Given the description of an element on the screen output the (x, y) to click on. 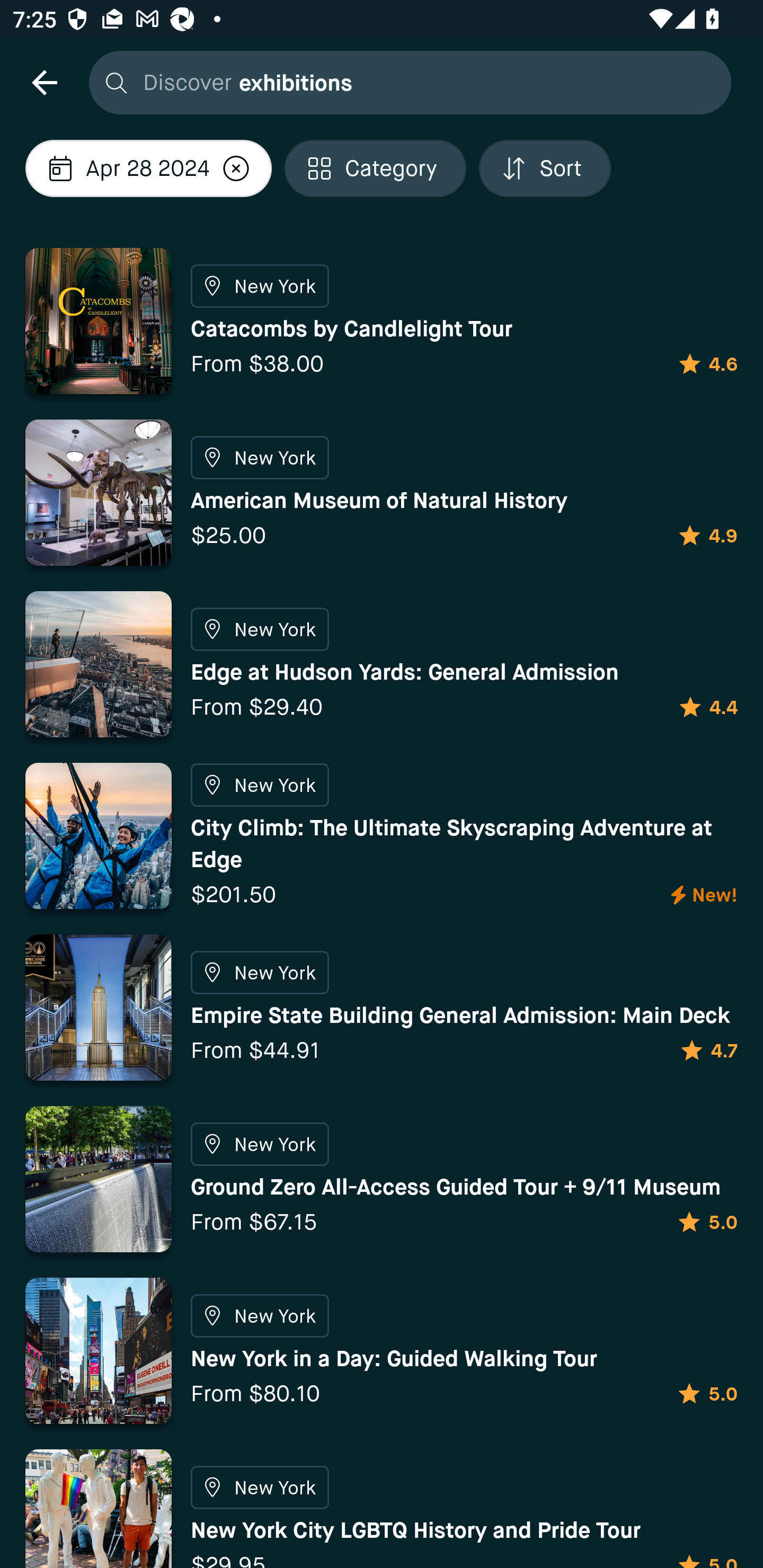
navigation icon (44, 81)
Discover exhibitions (405, 81)
Localized description (236, 168)
Localized description Category (375, 168)
Localized description Sort (545, 168)
